Given the description of an element on the screen output the (x, y) to click on. 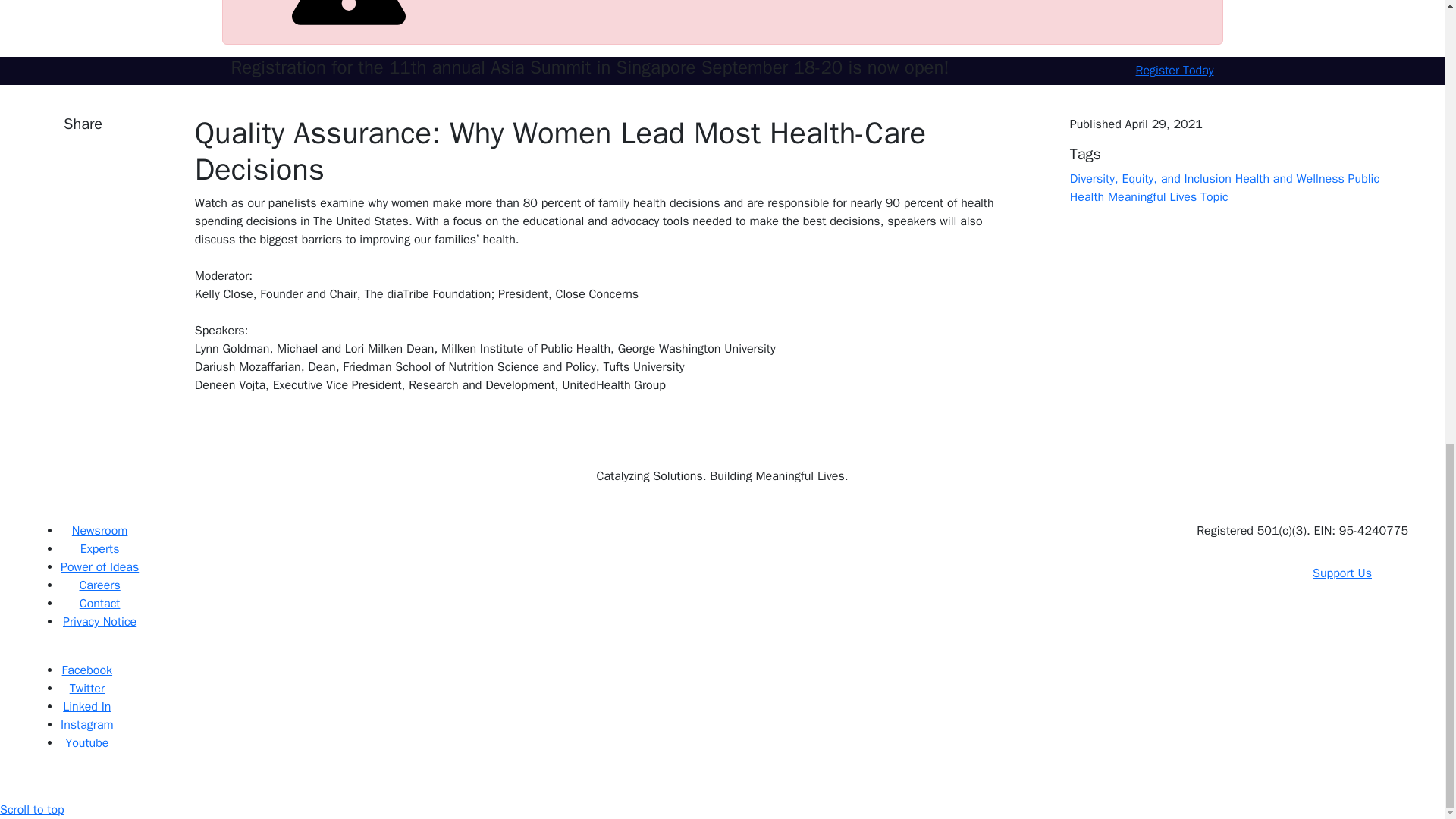
Register Today (1174, 70)
April 29, 2021 (1163, 124)
